Given the description of an element on the screen output the (x, y) to click on. 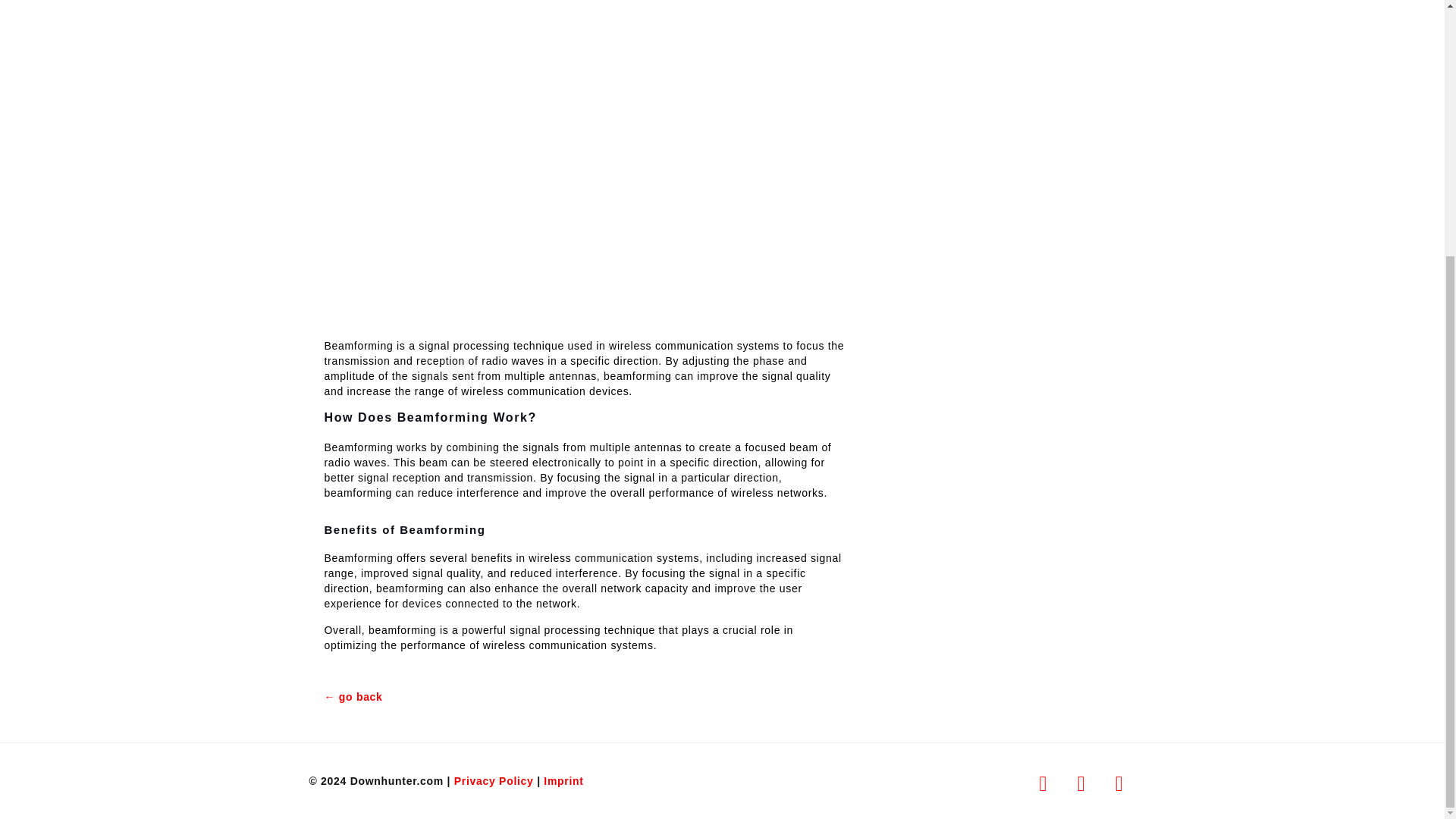
Facebook (1043, 783)
Privacy Policy (494, 780)
Instagram (1119, 783)
Imprint (563, 780)
Twitter (1081, 783)
